Given the description of an element on the screen output the (x, y) to click on. 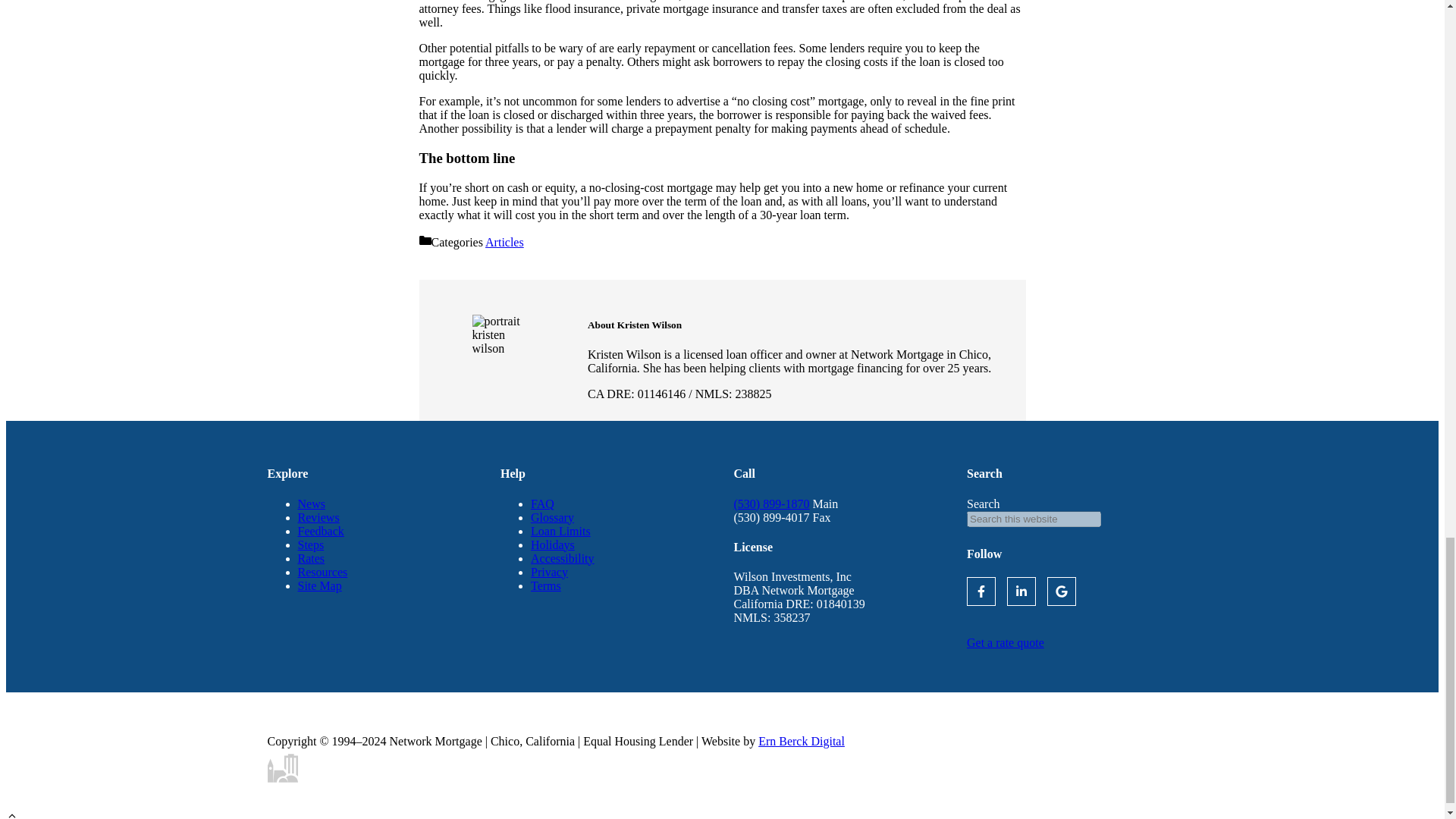
Ern Berck Digital (801, 740)
Rates (310, 558)
Loan Limits (561, 530)
Steps (310, 544)
Articles (504, 241)
Privacy (549, 571)
Holidays (553, 544)
Accessibility (562, 558)
Terms (545, 585)
Resources (322, 571)
